Given the description of an element on the screen output the (x, y) to click on. 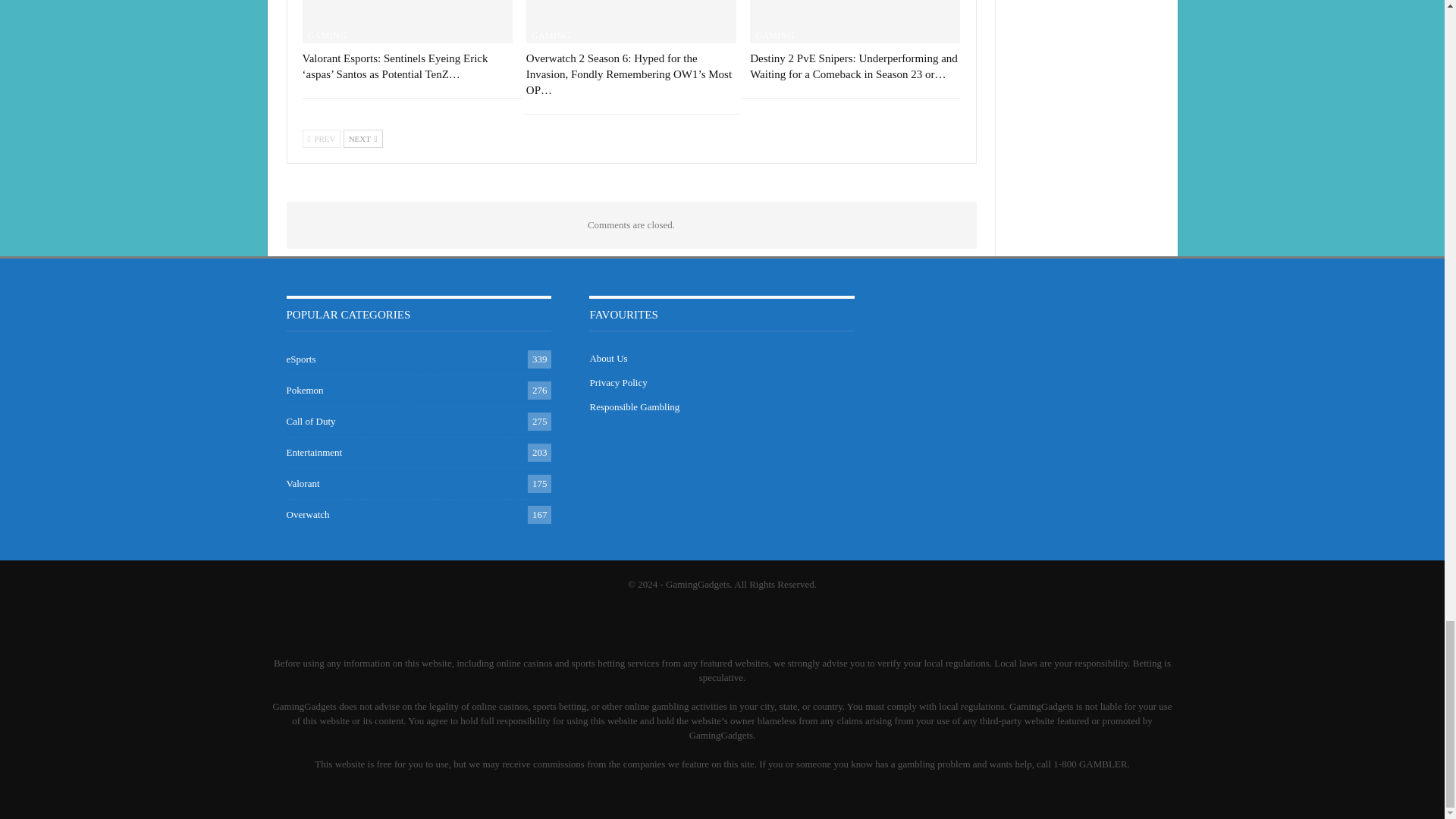
Next (362, 138)
Previous (320, 138)
